Given the description of an element on the screen output the (x, y) to click on. 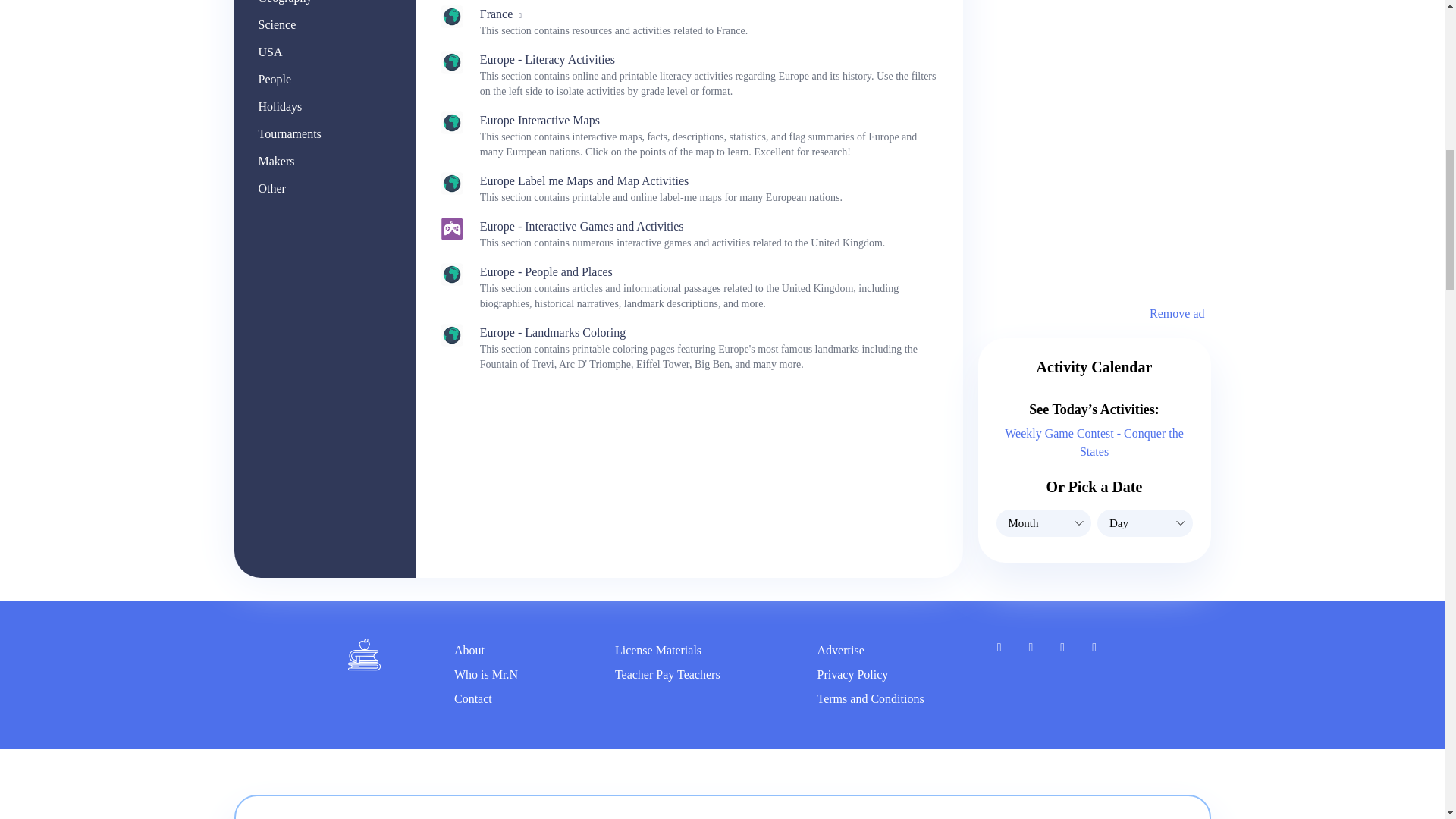
Holidays (279, 106)
Makers (275, 160)
Tournaments (288, 133)
Geography (284, 2)
USA (269, 51)
